Given the description of an element on the screen output the (x, y) to click on. 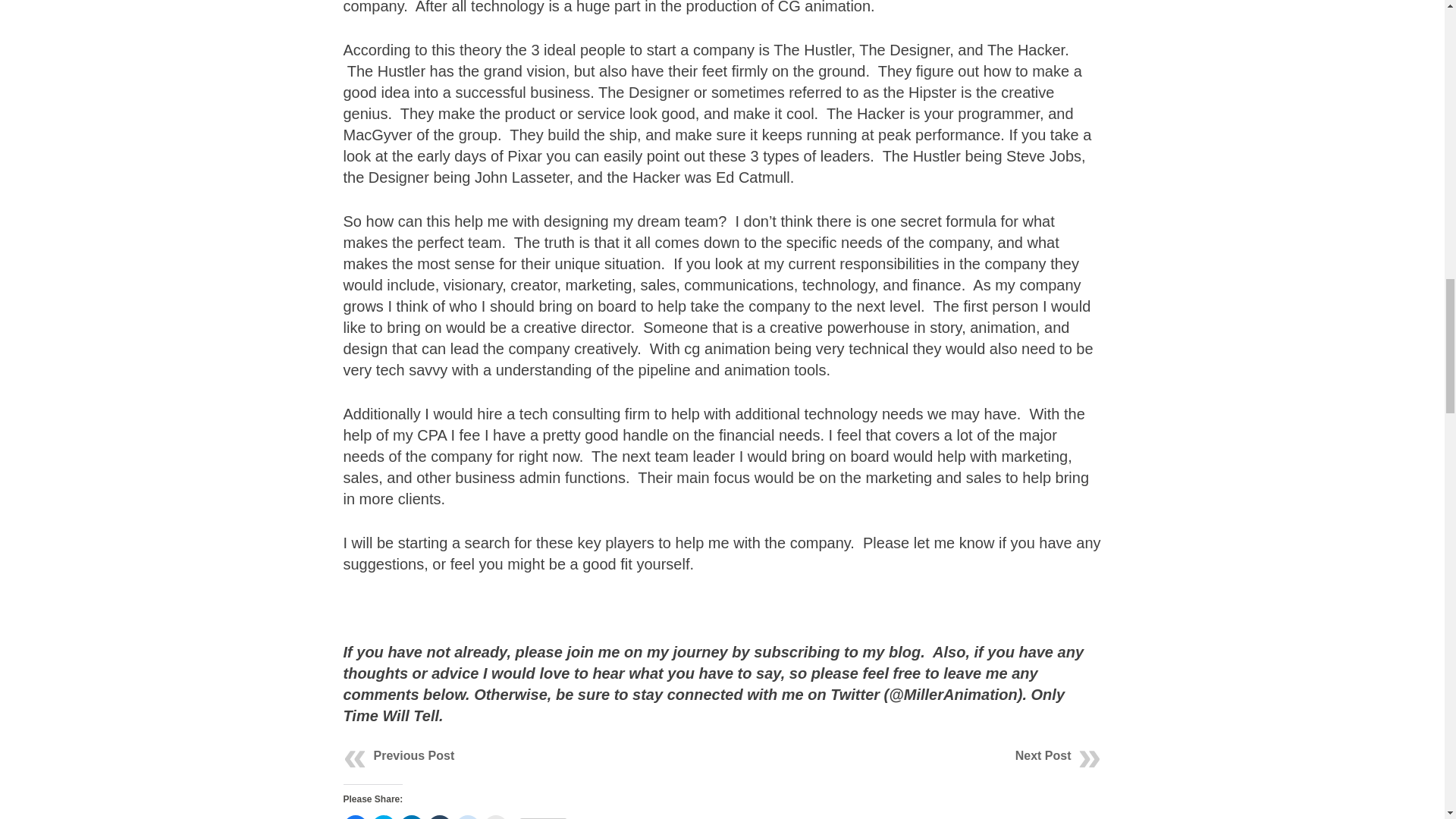
Click to share on Reddit (466, 816)
More (542, 818)
Click to email this to a friend (495, 816)
Click to share on Tumblr (439, 816)
Previous Post (413, 755)
Click to share on Twitter (383, 816)
Click to share on Facebook (354, 816)
Next Post (1042, 755)
Click to share on LinkedIn (410, 816)
